Given the description of an element on the screen output the (x, y) to click on. 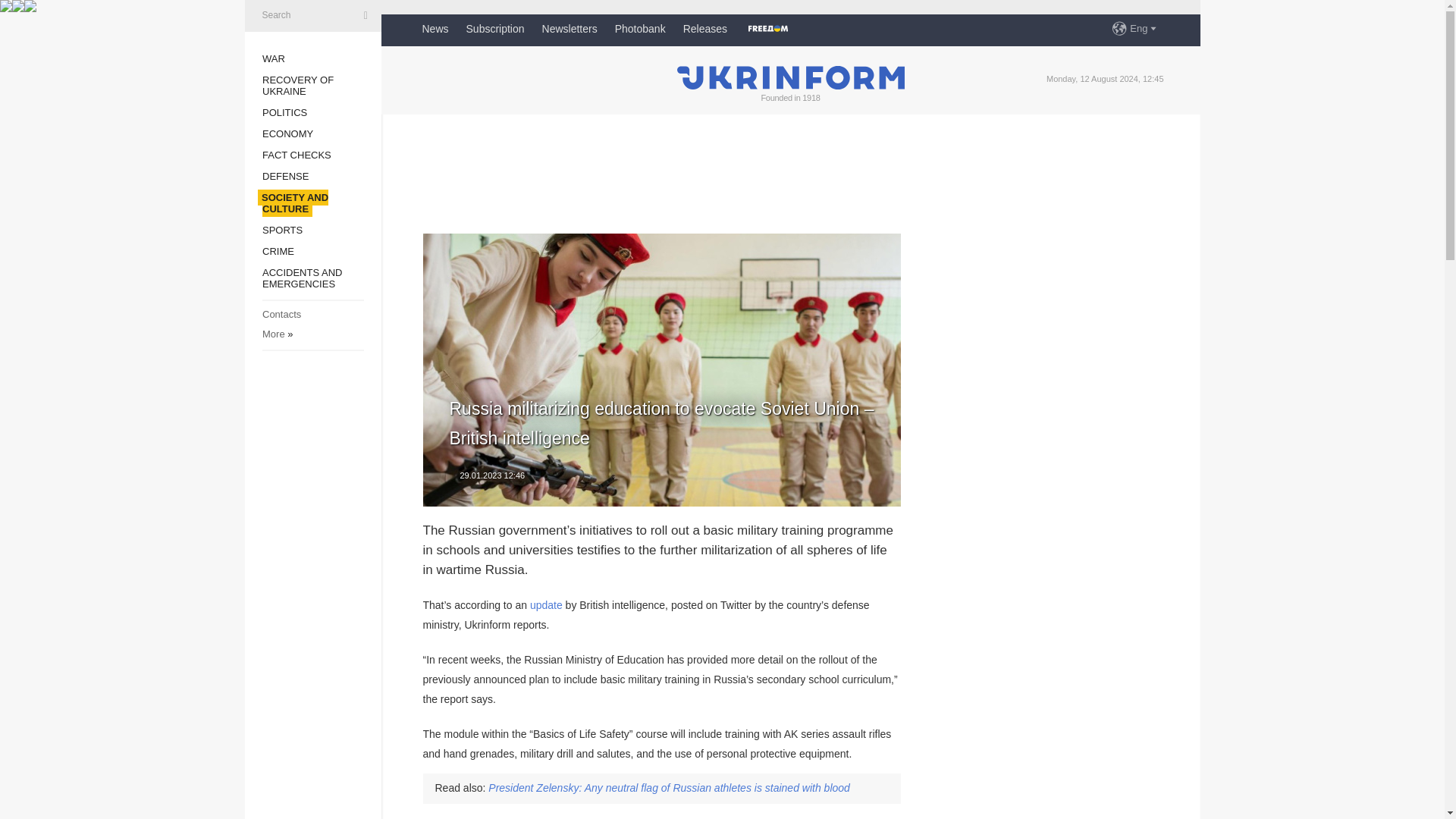
News (435, 28)
SOCIETY AND CULTURE (295, 202)
FreeDOM (767, 28)
Newsletters (568, 28)
DEFENSE (285, 175)
Contacts (281, 314)
ECONOMY (287, 133)
POLITICS (284, 112)
CRIME (278, 251)
Releases (704, 28)
